Given the description of an element on the screen output the (x, y) to click on. 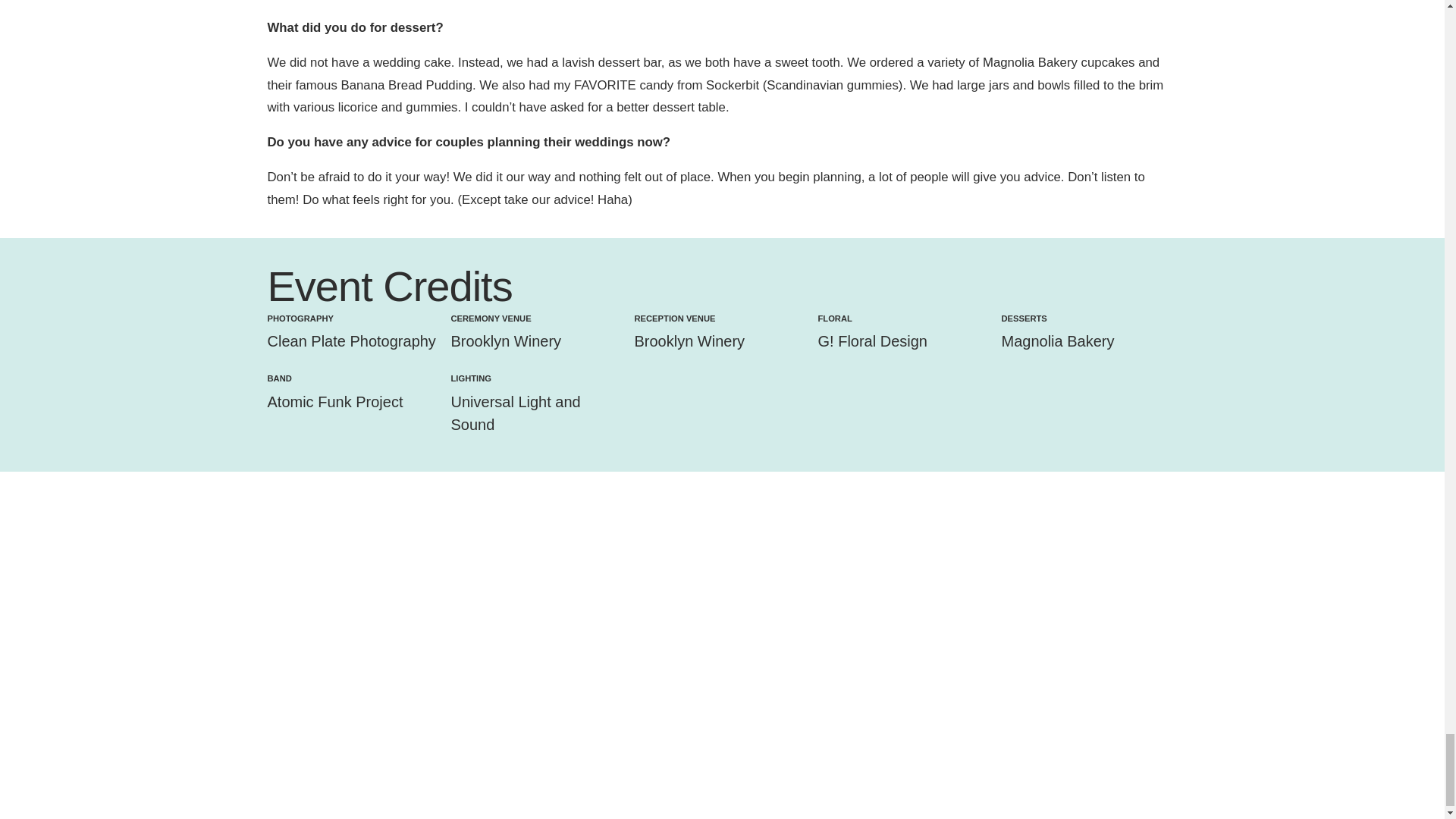
Atomic Funk Project (334, 401)
Clean Plate Photography (350, 340)
Magnolia Bakery (1057, 340)
G! Floral Design (871, 340)
Brooklyn Winery (688, 340)
Universal Light and Sound (514, 413)
Brooklyn Winery (504, 340)
